Given the description of an element on the screen output the (x, y) to click on. 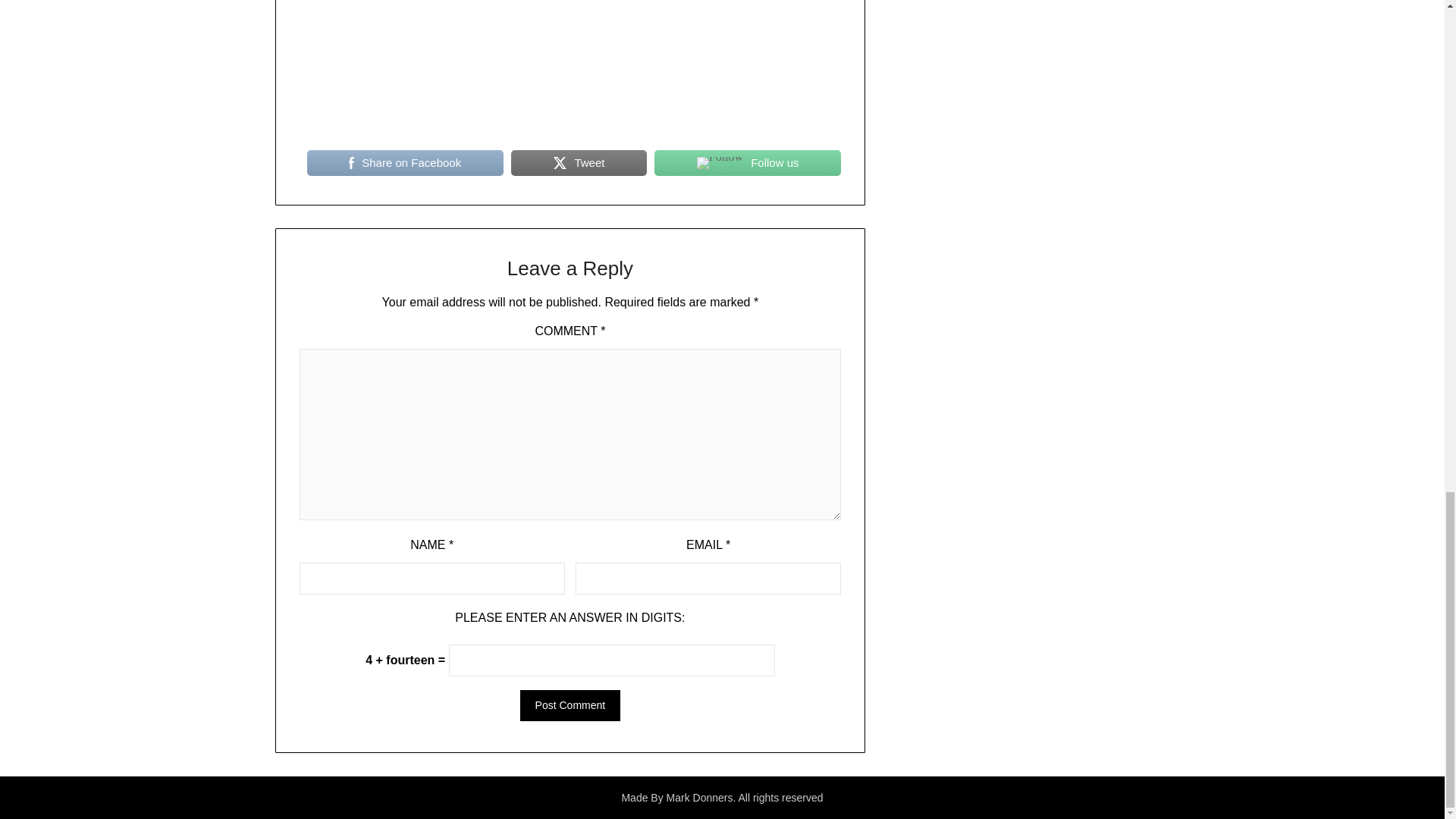
Post Comment (570, 705)
Share on Facebook (405, 162)
Tweet (578, 162)
Post Comment (570, 705)
Follow us (747, 162)
